Given the description of an element on the screen output the (x, y) to click on. 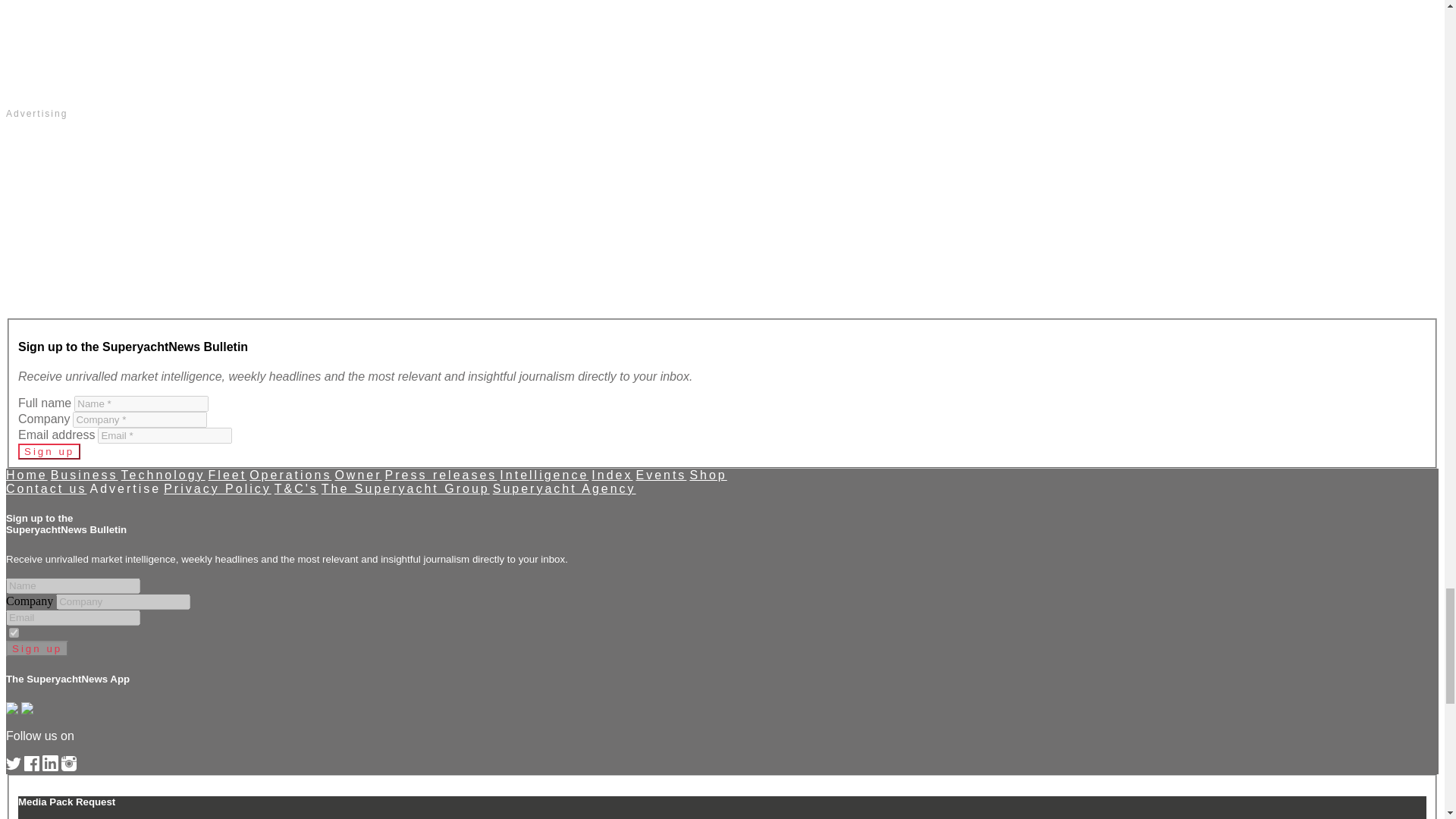
newsletter (13, 633)
3rd party ad content (721, 49)
